Given the description of an element on the screen output the (x, y) to click on. 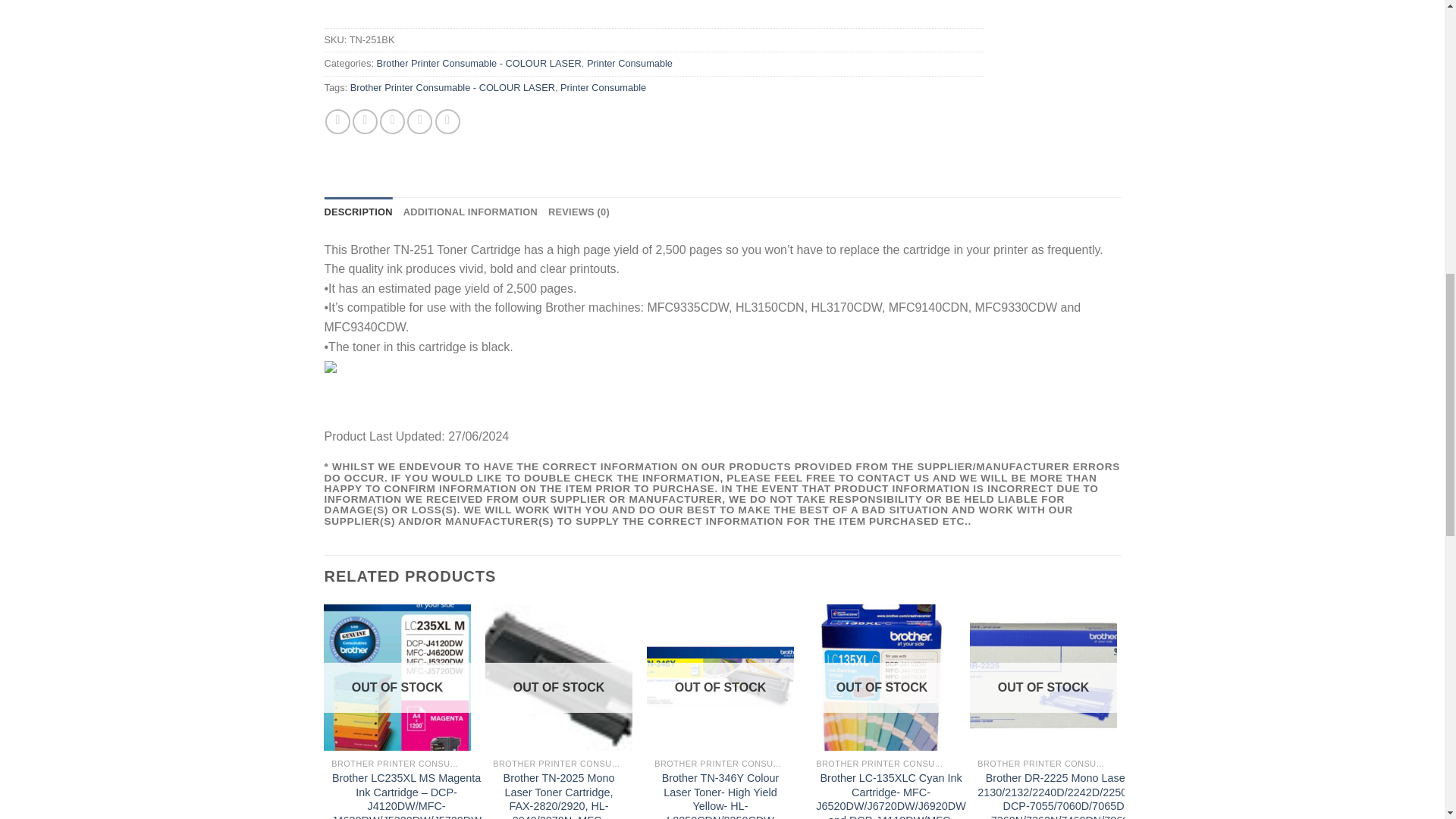
Email to a Friend (392, 121)
Pin on Pinterest (419, 121)
Brother Printer Consumable - COLOUR LASER (452, 87)
Share on Facebook (337, 121)
Printer Consumable (603, 87)
Printer Consumable (629, 62)
Share on LinkedIn (447, 121)
Share on Twitter (364, 121)
Brother Printer Consumable - COLOUR LASER (477, 62)
